Given the description of an element on the screen output the (x, y) to click on. 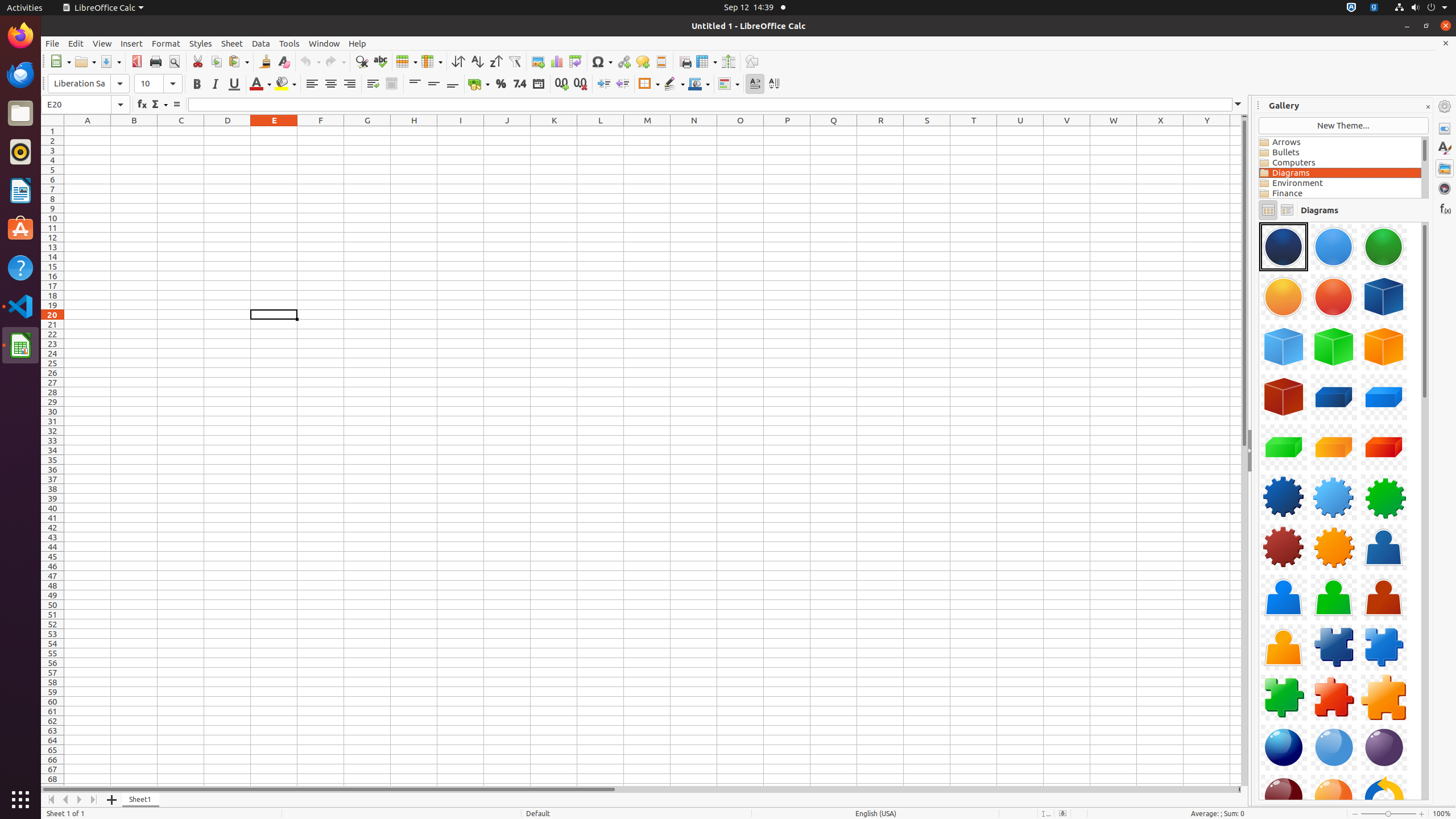
Move To Home Element type: push-button (51, 799)
File Element type: menu (51, 43)
Data Element type: menu (260, 43)
LibreOffice Calc Element type: push-button (20, 344)
Sort Descending Element type: push-button (495, 61)
